Given the description of an element on the screen output the (x, y) to click on. 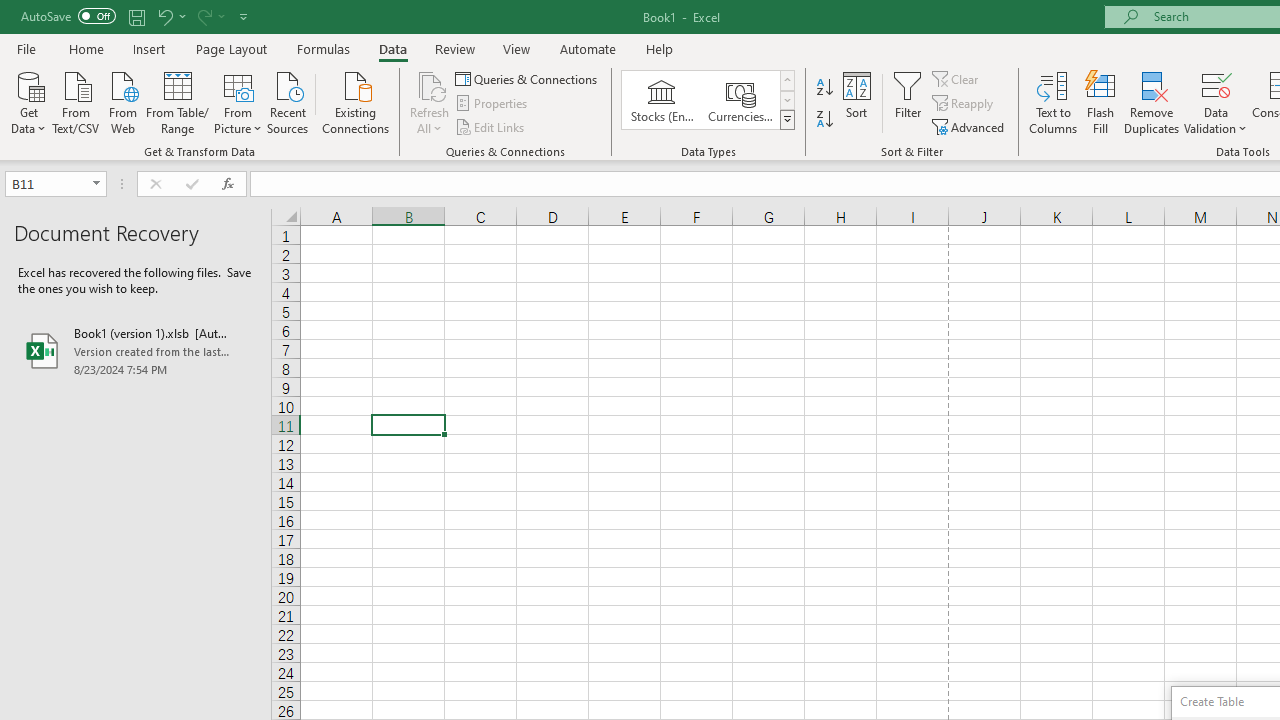
System (10, 11)
Data (392, 48)
Recent Sources (287, 101)
AutoSave (68, 16)
Properties (492, 103)
Reapply (964, 103)
From Text/CSV (75, 101)
Advanced... (970, 126)
Insert (149, 48)
Review (454, 48)
From Web (122, 101)
Help (660, 48)
Row Down (786, 100)
Book1 (version 1).xlsb  [AutoRecovered] (136, 350)
Redo (203, 15)
